Given the description of an element on the screen output the (x, y) to click on. 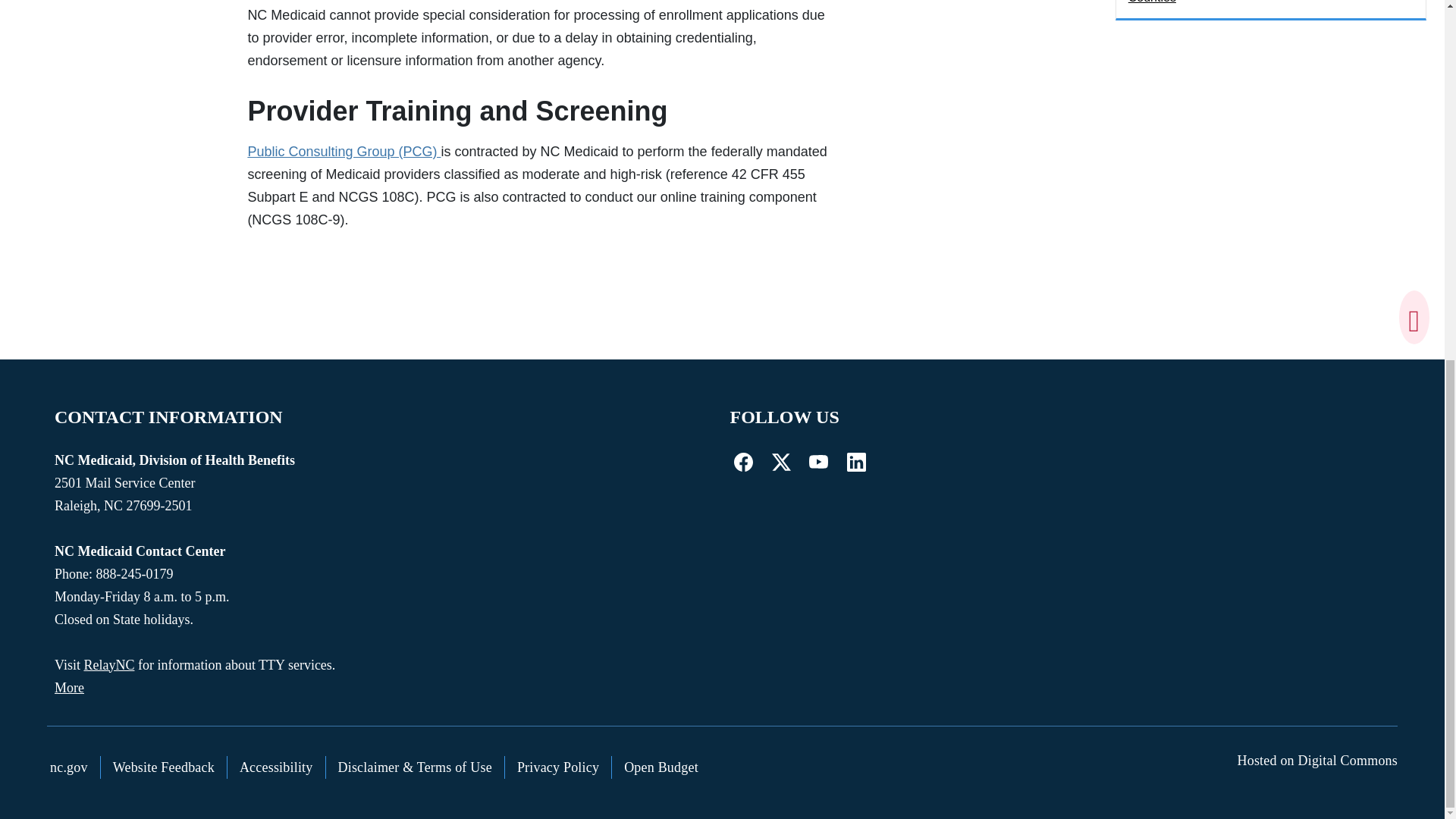
Accessibility of State of North Carolina Websites (276, 766)
State of North Carolina Privacy Policy (558, 766)
Website User Feedback Form (163, 766)
State of North Carolina Open Budget (660, 766)
RelayNC (107, 664)
The State of North Carolina (68, 766)
Terms of Use (415, 766)
